Given the description of an element on the screen output the (x, y) to click on. 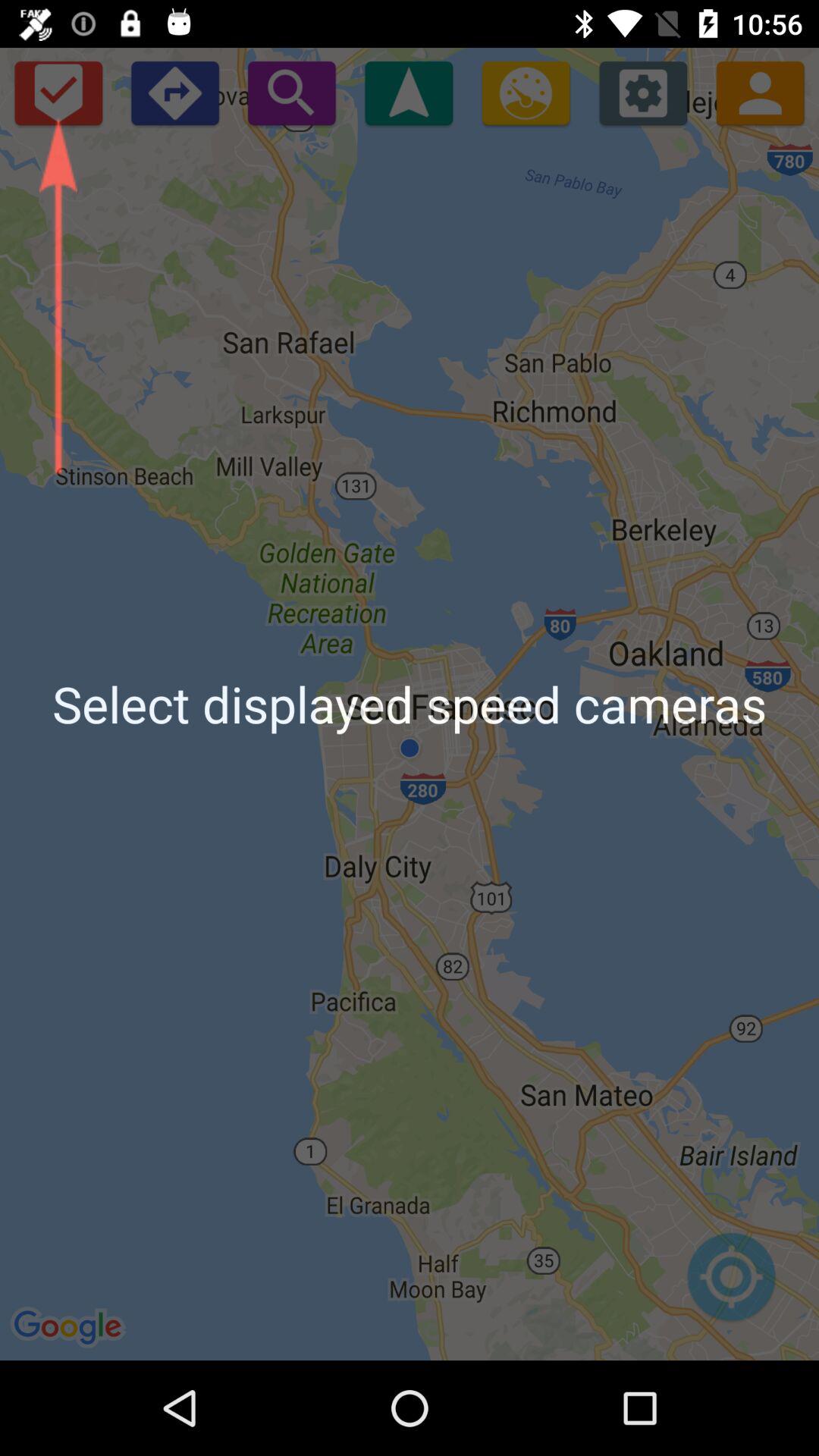
view location (731, 1284)
